Given the description of an element on the screen output the (x, y) to click on. 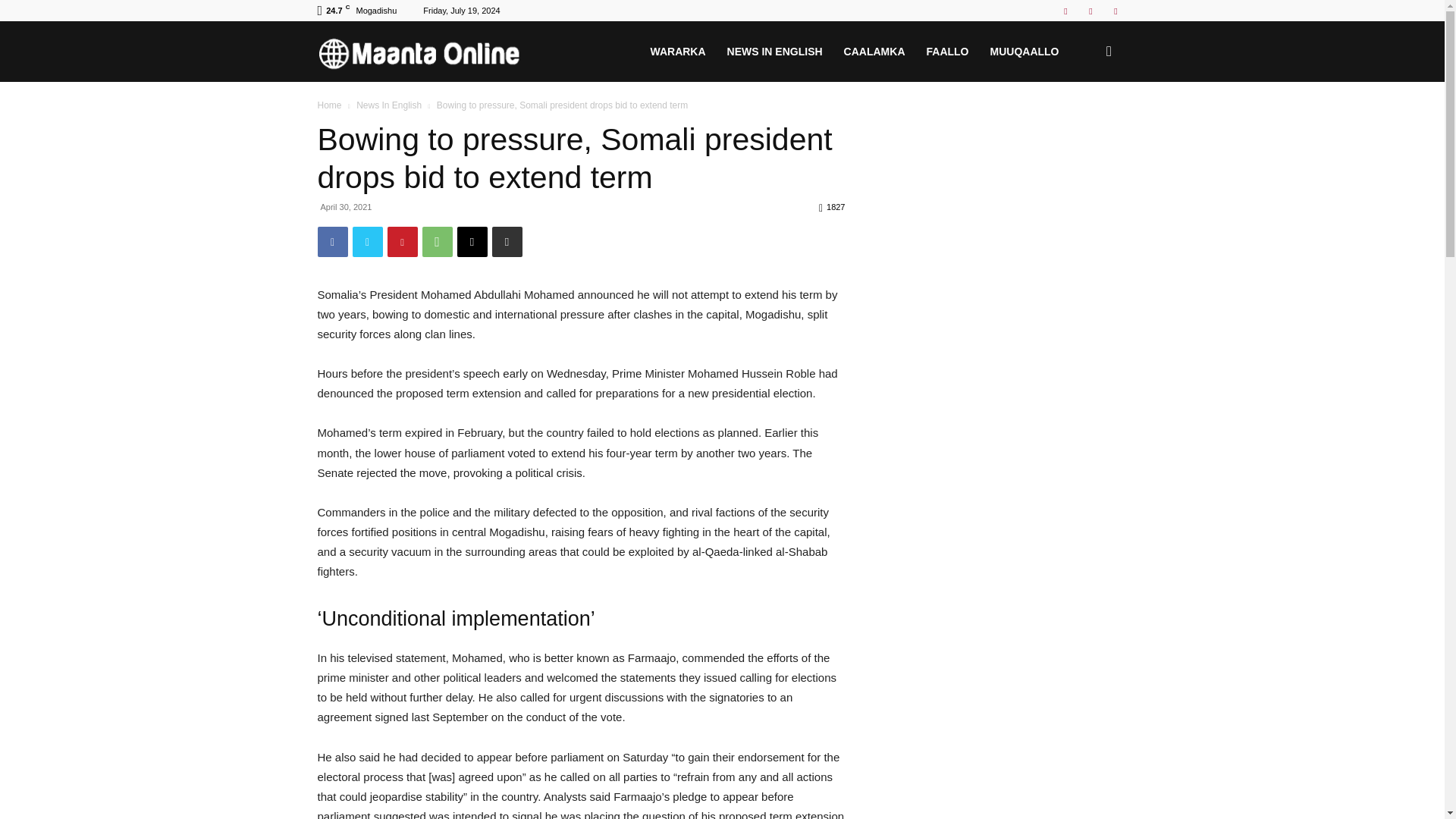
View all posts in News In English (389, 104)
Facebook (1065, 10)
WhatsApp (436, 241)
Print (506, 241)
News In English (389, 104)
MUUQAALLO (1024, 51)
Facebook (332, 241)
Email (471, 241)
Home (328, 104)
Search (1085, 124)
Maanta Online (429, 51)
Twitter (366, 241)
Youtube (1114, 10)
CAALAMKA (873, 51)
WARARKA (677, 51)
